Given the description of an element on the screen output the (x, y) to click on. 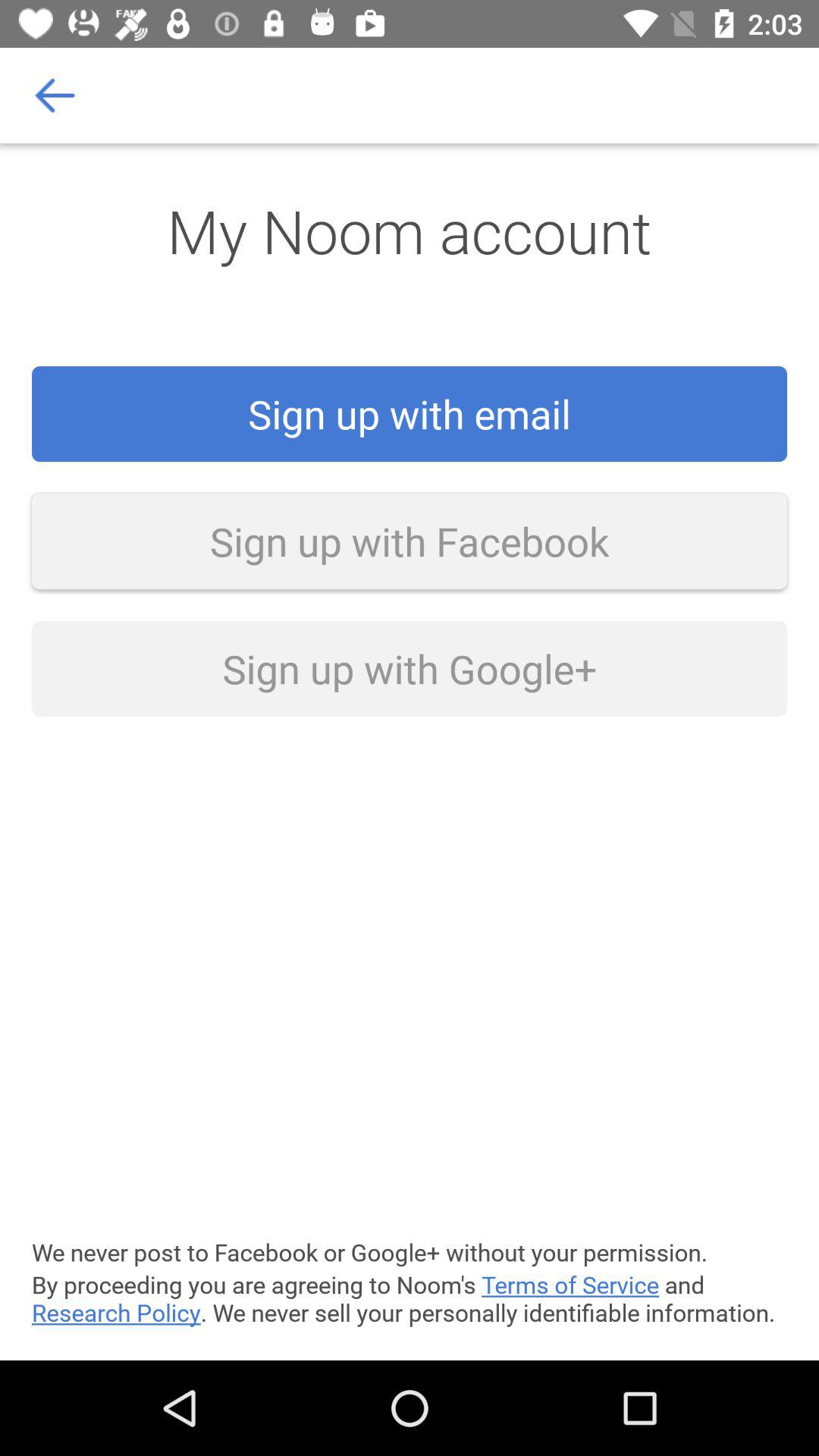
open by proceeding you (409, 1298)
